Given the description of an element on the screen output the (x, y) to click on. 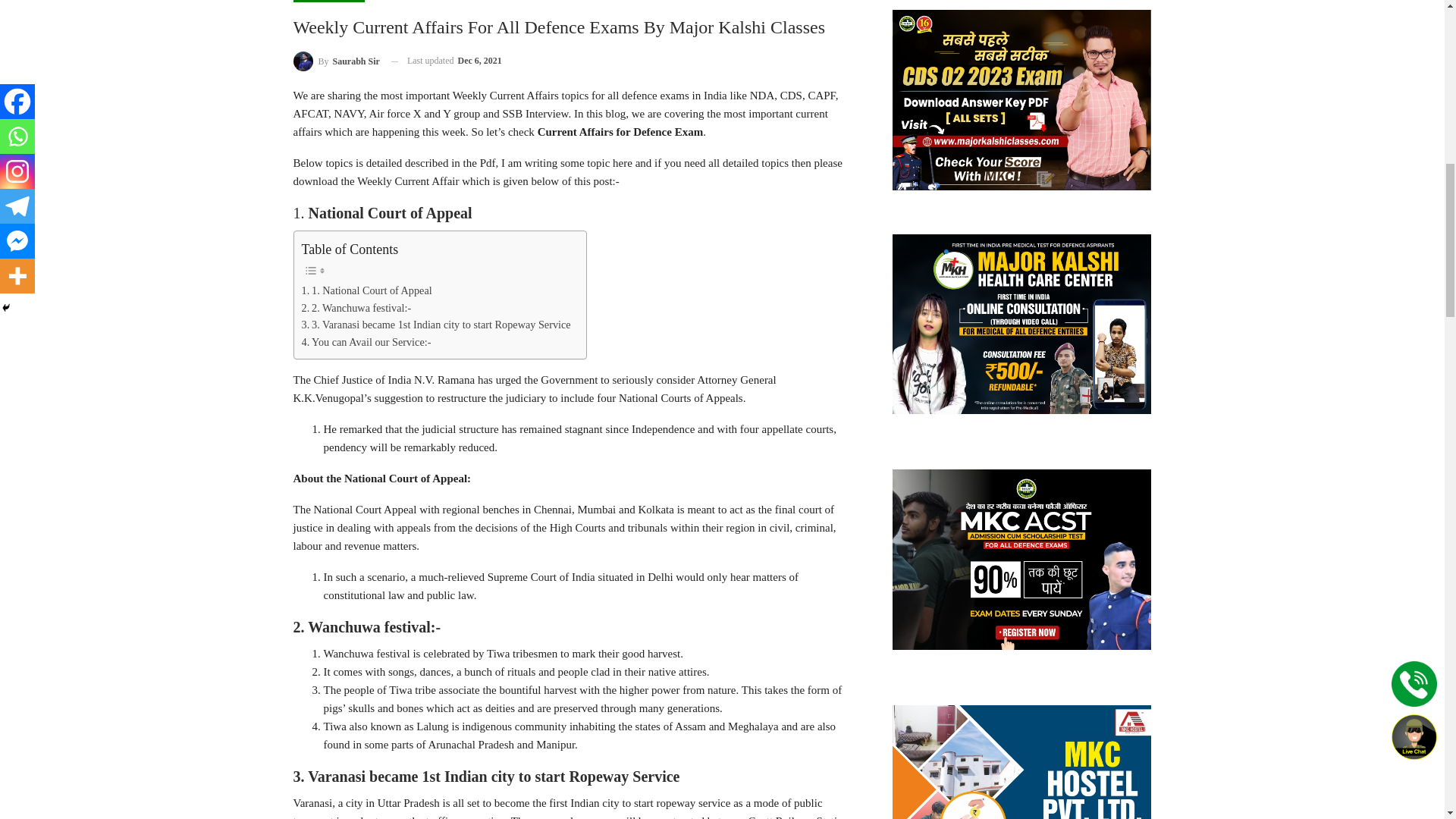
3. Varanasi became 1st Indian city to start Ropeway Service (435, 324)
1. National Court of Appeal (366, 290)
2. Wanchuwa festival:- (356, 307)
Browse Author Articles (335, 60)
